Given the description of an element on the screen output the (x, y) to click on. 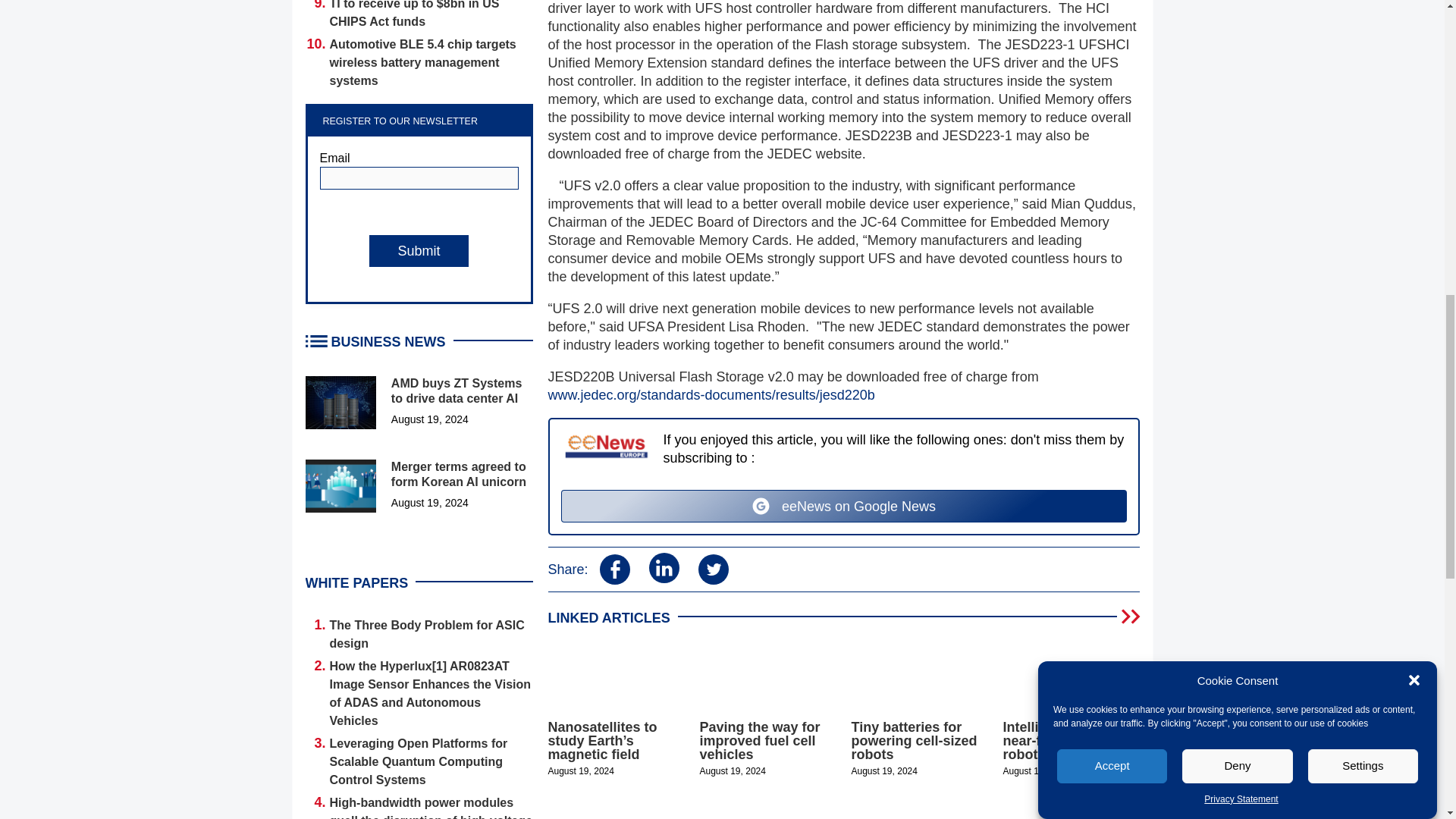
Submit (418, 250)
Accept (1112, 279)
Deny (1237, 265)
Settings (1362, 235)
Privacy Statement (1241, 153)
